Given the description of an element on the screen output the (x, y) to click on. 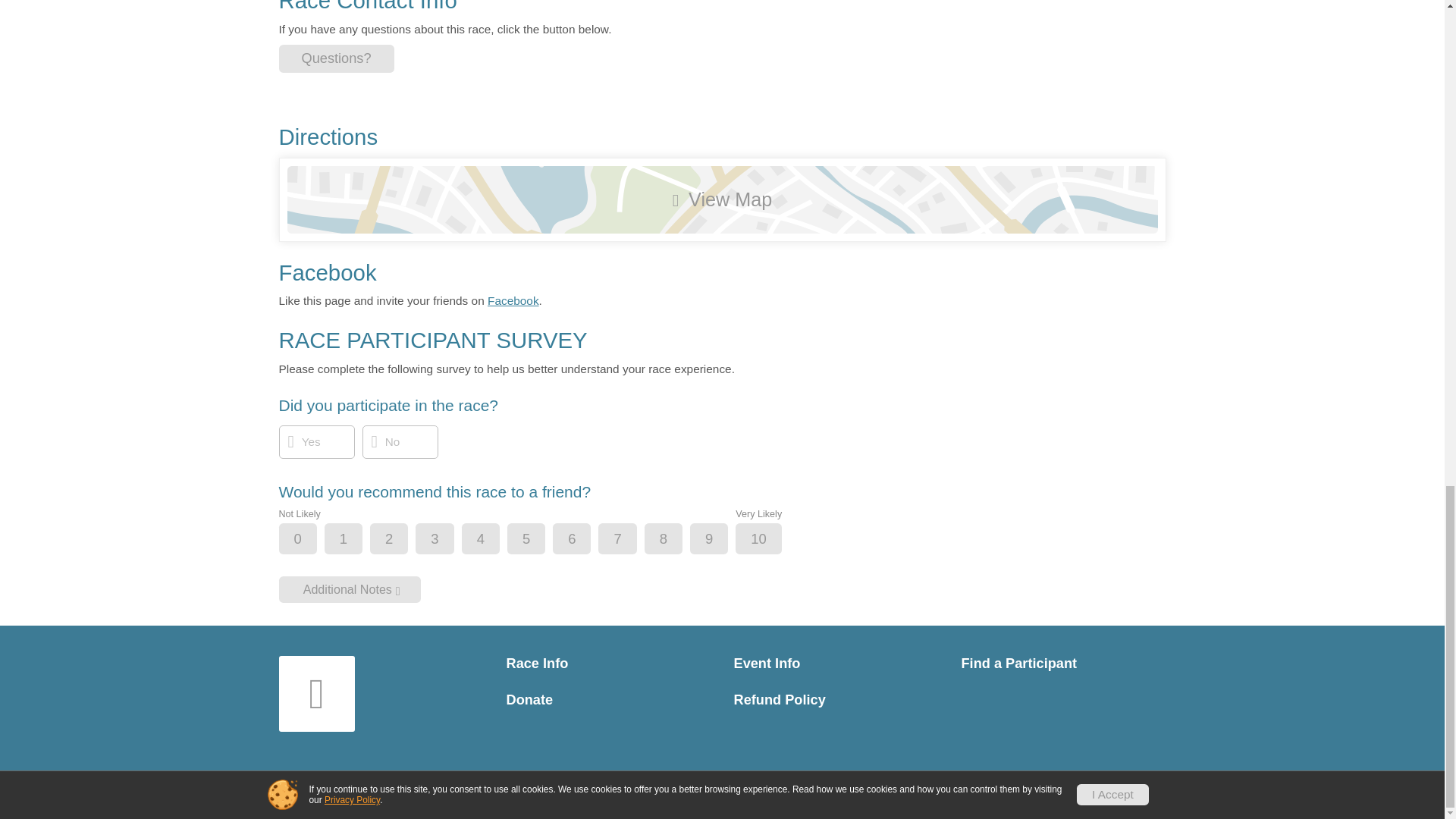
9 (721, 539)
View Map (721, 199)
0 (310, 539)
Questions? (336, 58)
Event Info (836, 663)
Facebook (512, 300)
2 (401, 539)
4 (493, 539)
7 (629, 539)
1 (355, 539)
10 (770, 539)
5 (539, 539)
6 (584, 539)
Donate (608, 700)
3 (447, 539)
